Given the description of an element on the screen output the (x, y) to click on. 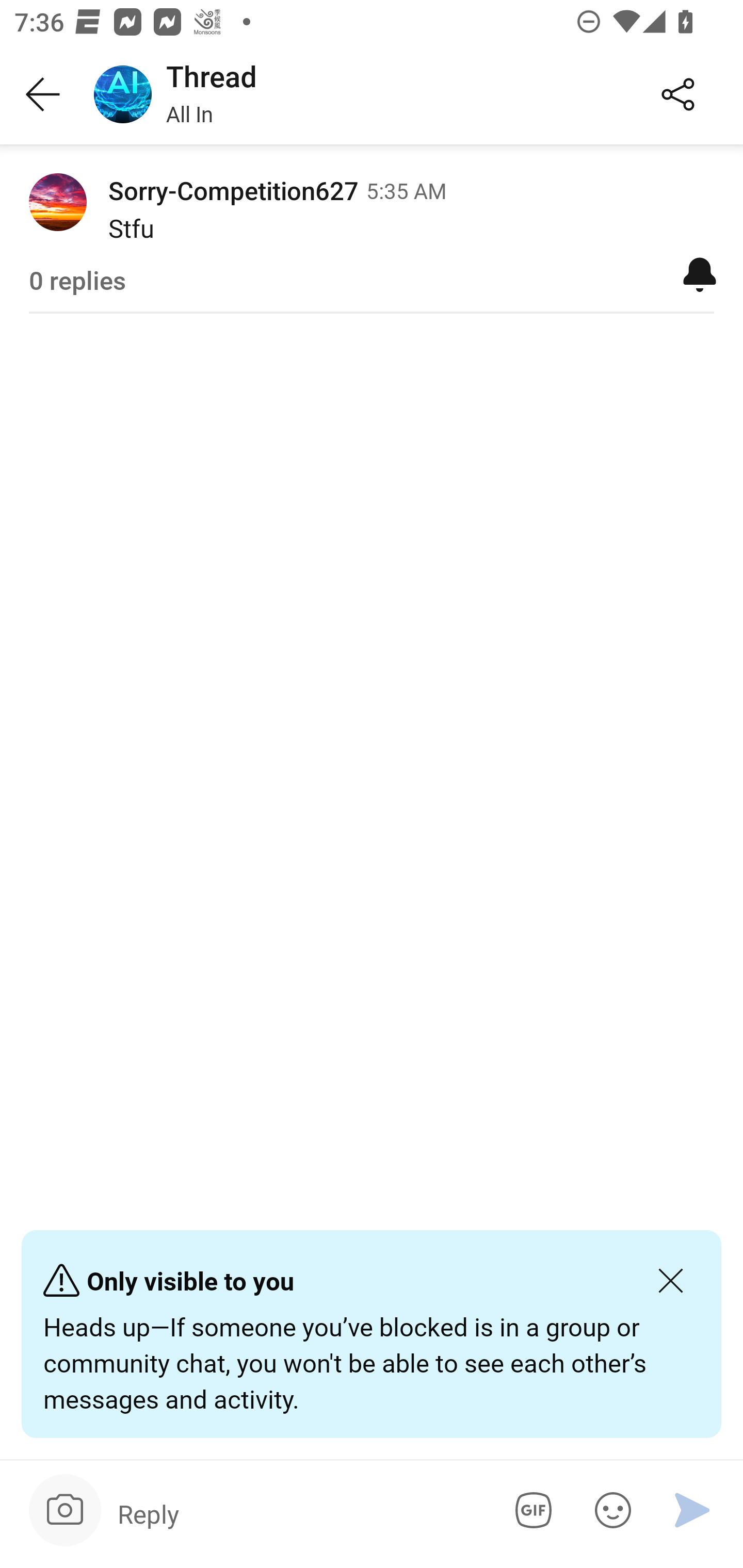
Back (43, 94)
Share (677, 94)
Mute (699, 273)
Upload image (64, 1510)
Add GIF (529, 1510)
Add sticker (609, 1510)
Send message (692, 1510)
Message Reply (298, 1513)
